Given the description of an element on the screen output the (x, y) to click on. 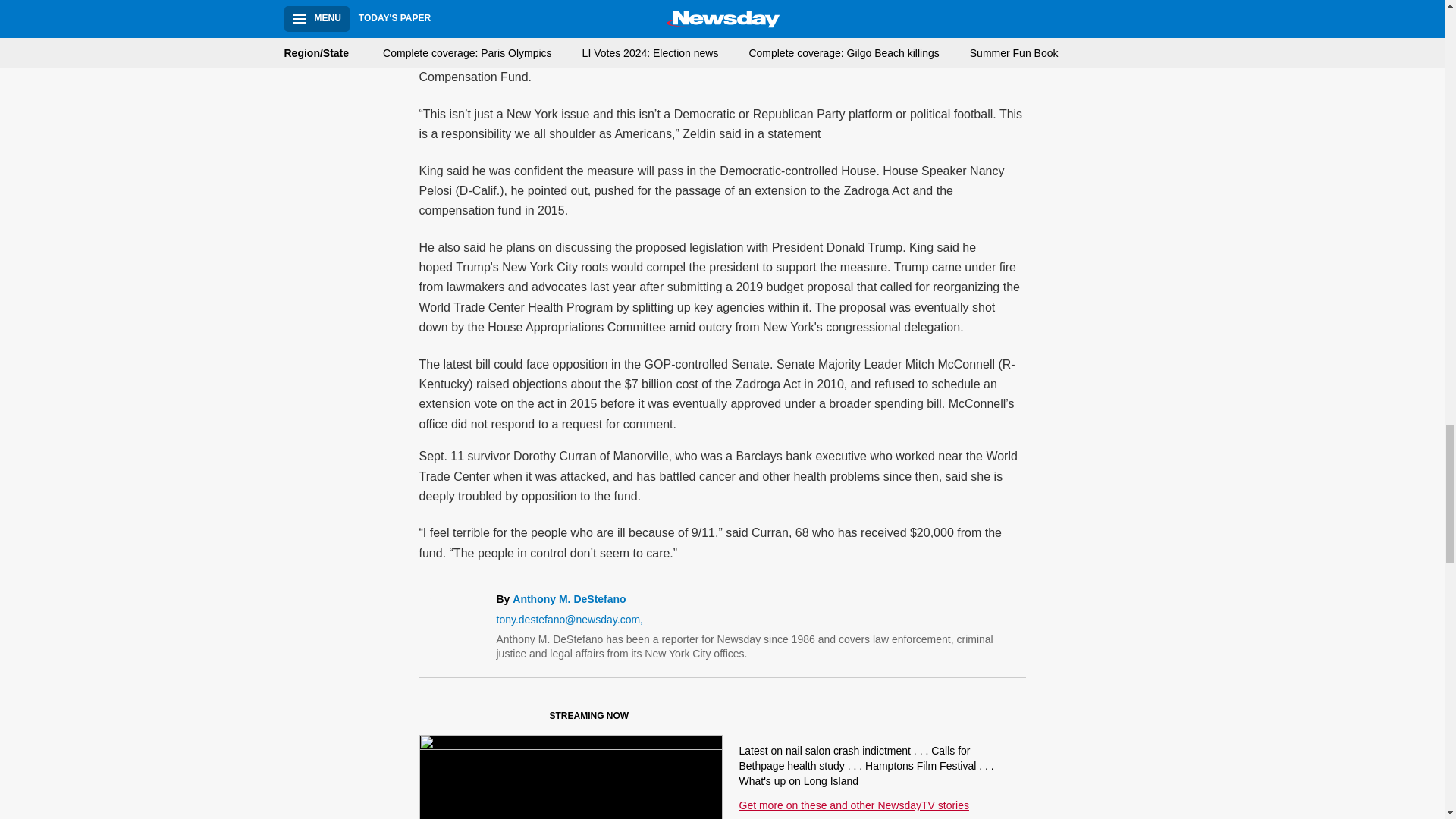
STREAMING NOW (530, 718)
Anthony M. DeStefano (569, 599)
Get more on these and other NewsdayTV stories (853, 805)
